Given the description of an element on the screen output the (x, y) to click on. 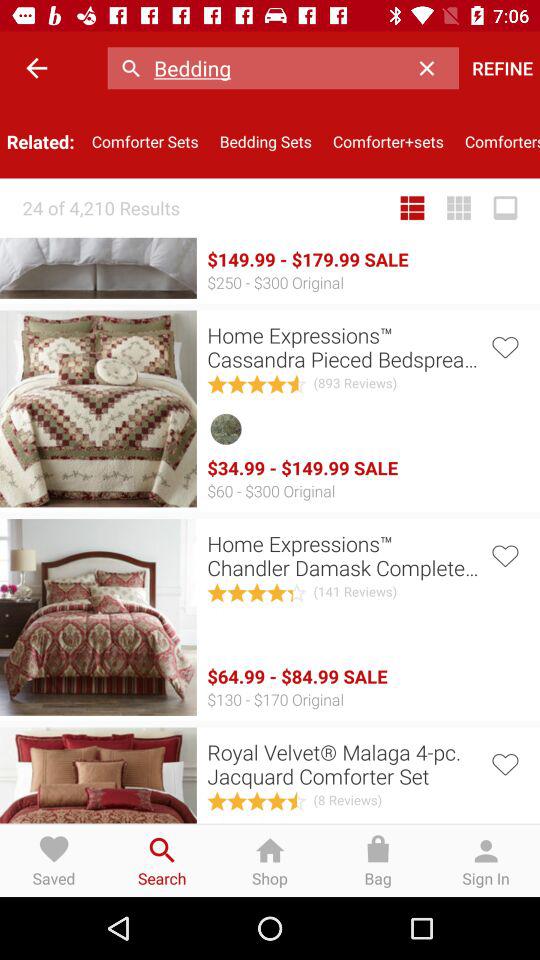
click item next to comforter sets (36, 68)
